Given the description of an element on the screen output the (x, y) to click on. 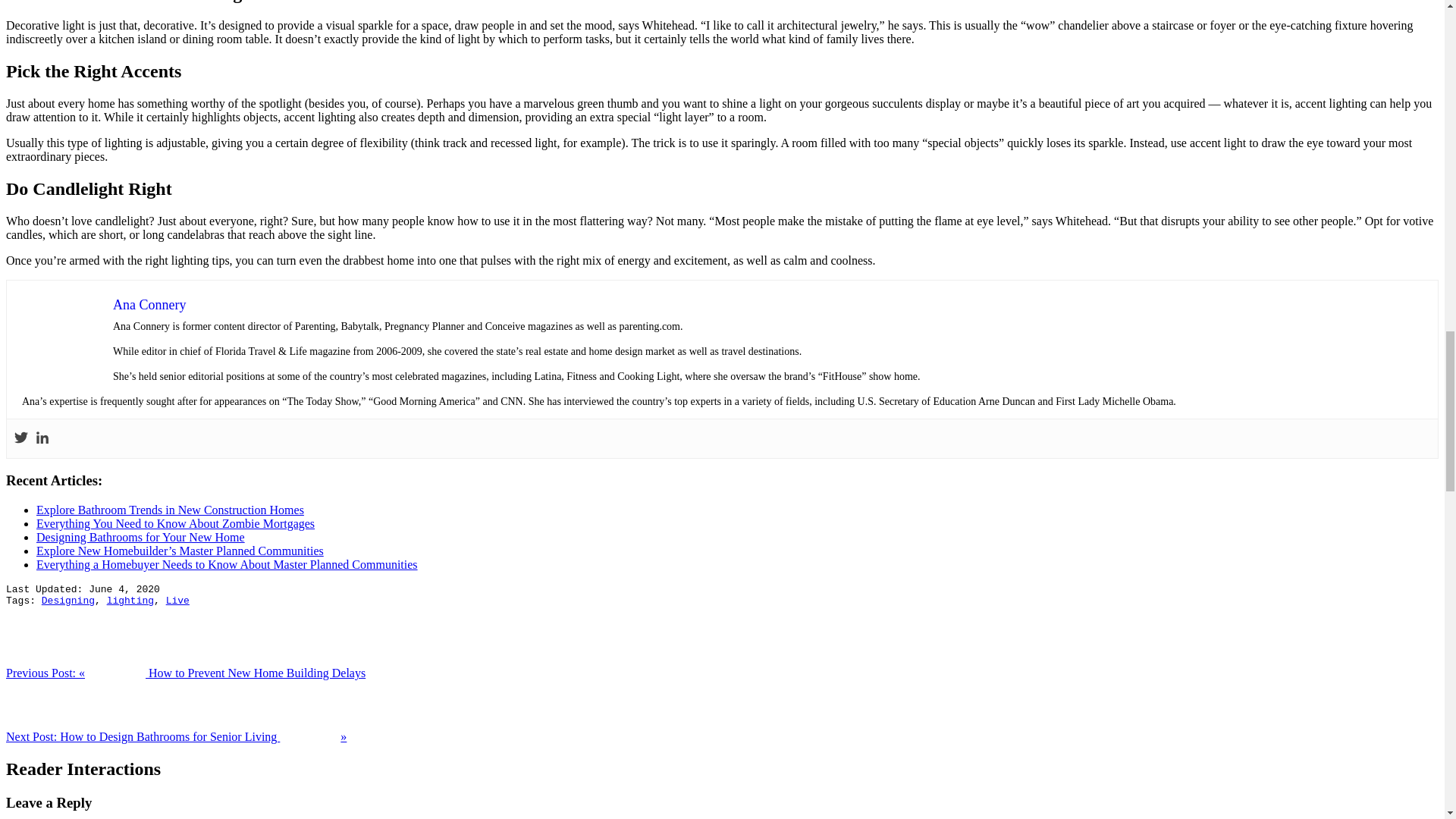
Linkedin (41, 438)
Twitter (20, 438)
